Given the description of an element on the screen output the (x, y) to click on. 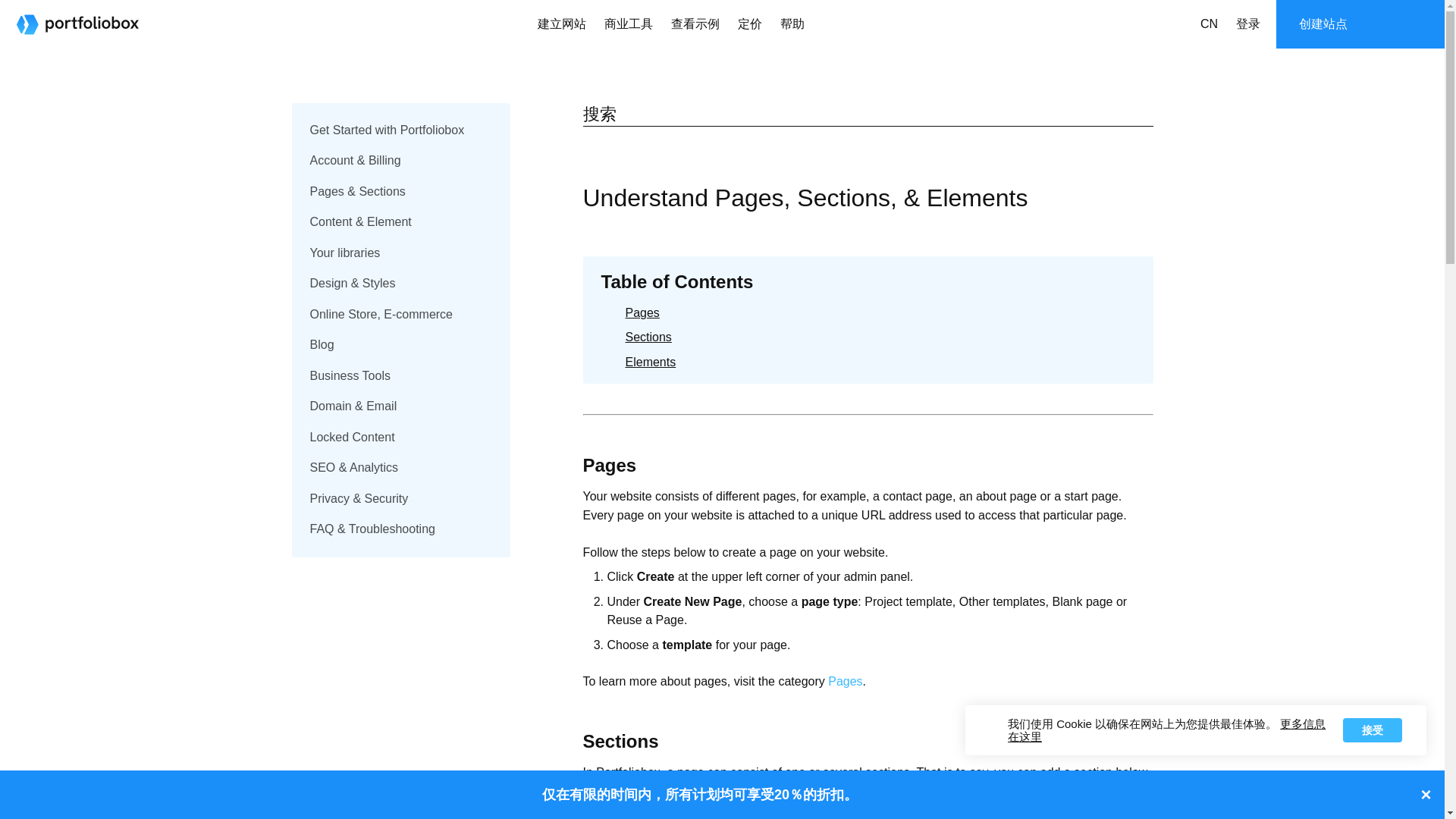
Pages (844, 680)
